Given the description of an element on the screen output the (x, y) to click on. 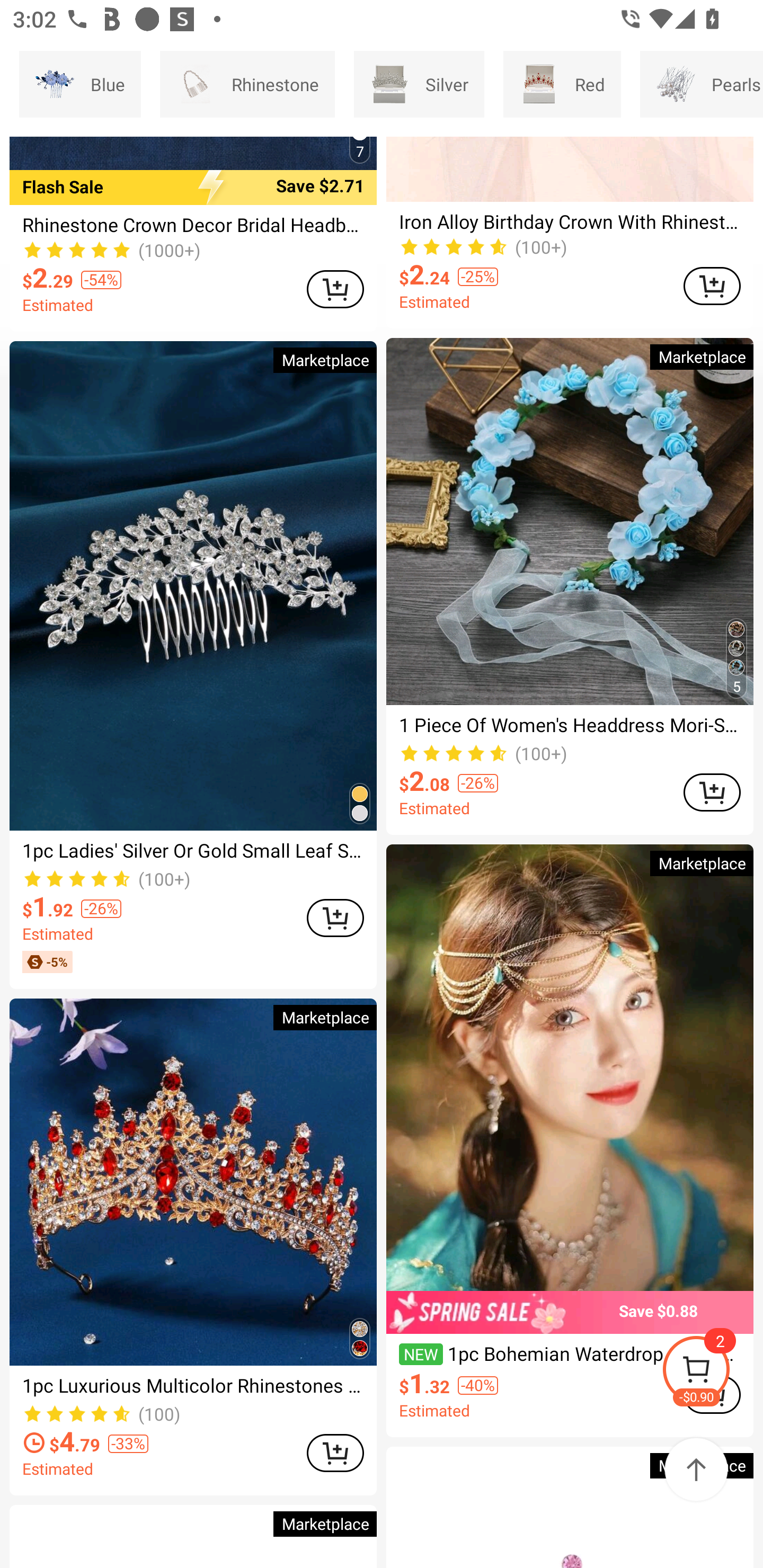
Blue (80, 83)
Rhinestone (247, 83)
Silver (419, 83)
Red (562, 83)
Pearls (701, 83)
ADD TO CART (711, 285)
ADD TO CART (334, 288)
ADD TO CART (711, 792)
ADD TO CART (334, 917)
-$0.90 (712, 1371)
ADD TO CART (334, 1453)
Back to top (696, 1469)
